Given the description of an element on the screen output the (x, y) to click on. 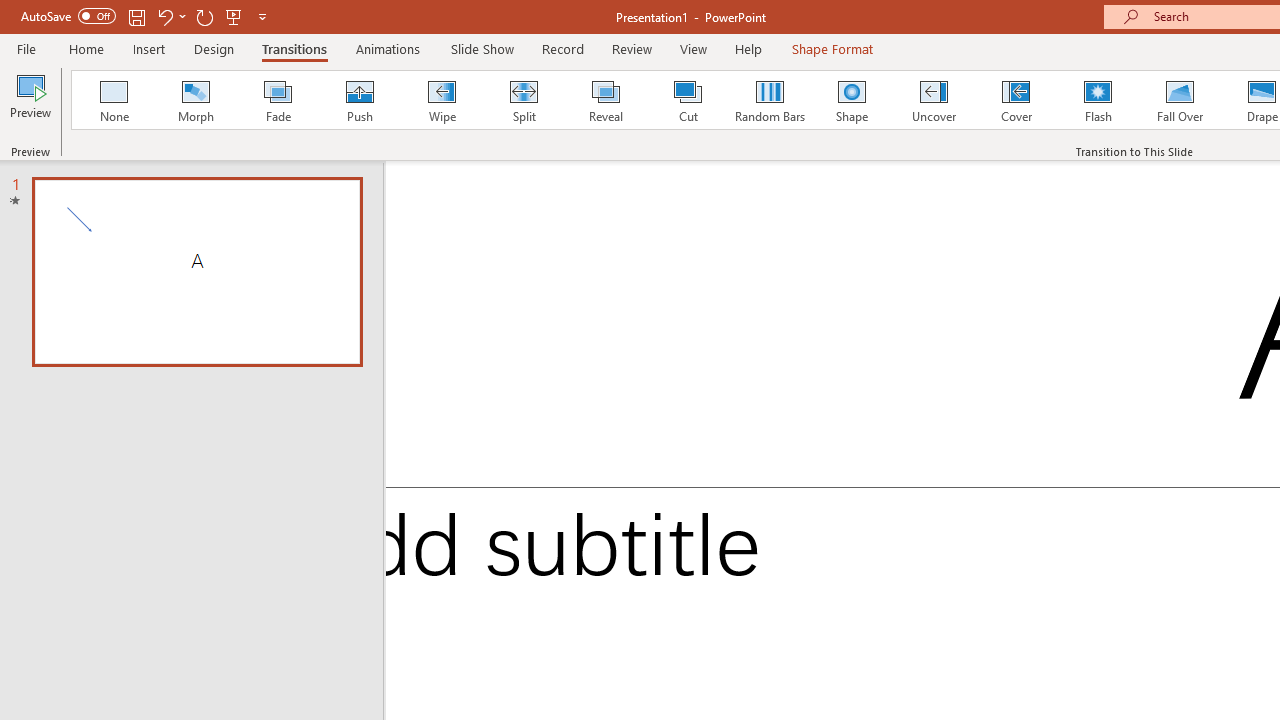
Reveal (605, 100)
Morph (195, 100)
Uncover (934, 100)
